Given the description of an element on the screen output the (x, y) to click on. 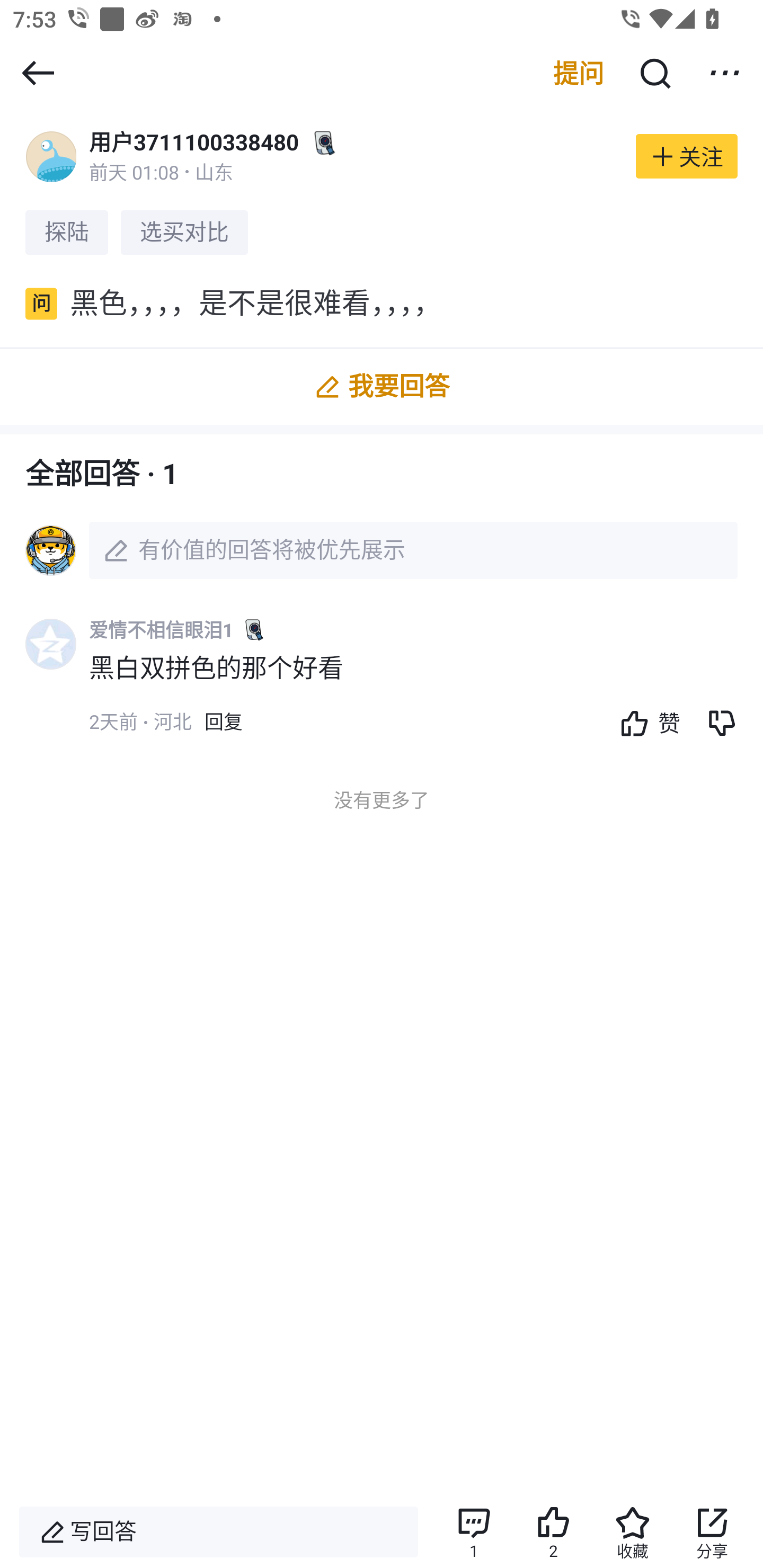
 (38, 72)
提问 (578, 72)
 (654, 72)
 (724, 72)
用户3711100338480 (194, 142)
 关注 (686, 155)
探陆 (66, 232)
选买对比 (183, 232)
我要回答 (381, 386)
 有价值的回答将被优先展示 (381, 550)
爱情不相信眼泪1 黑白双拼色的那个好看 2天前 < >河北 回复 赞 (426, 688)
爱情不相信眼泪1 (161, 630)
赞 (645, 722)
 1 (473, 1531)
2 (553, 1531)
收藏 (632, 1531)
 分享 (711, 1531)
 写回答 (218, 1531)
